Given the description of an element on the screen output the (x, y) to click on. 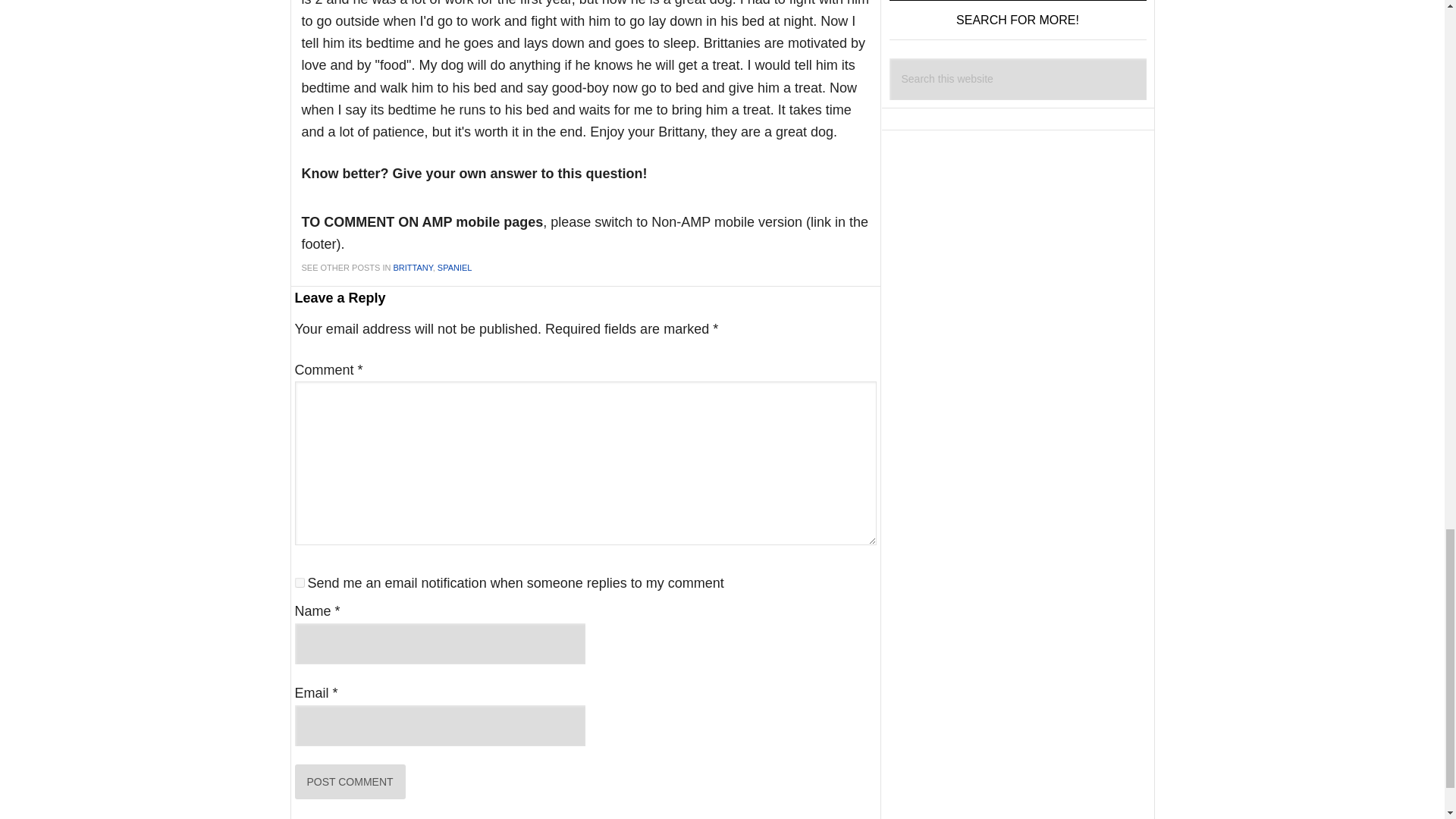
Post Comment (349, 781)
Post Comment (349, 781)
SPANIEL (454, 266)
BRITTANY (412, 266)
1 (299, 583)
